Given the description of an element on the screen output the (x, y) to click on. 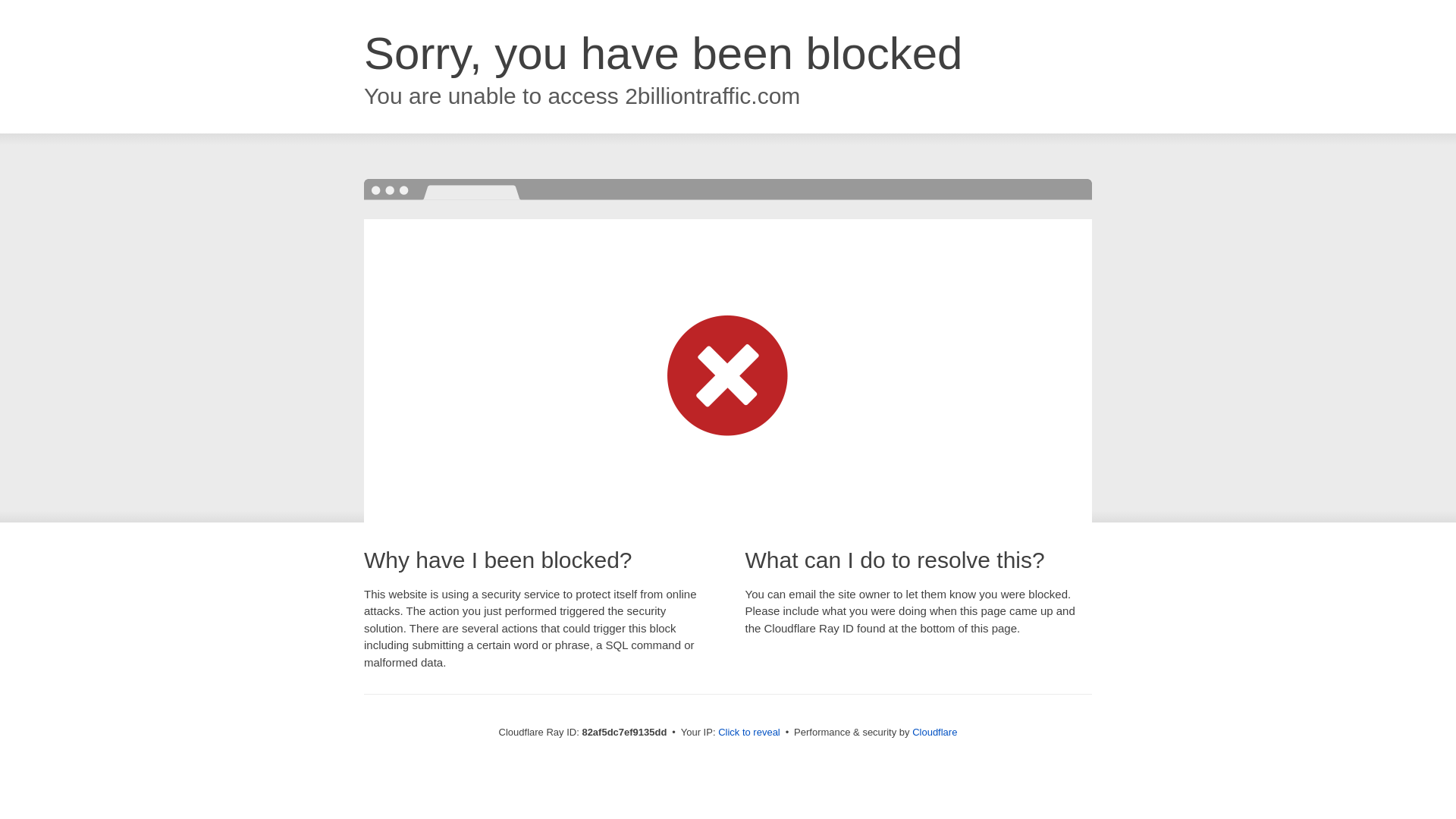
Cloudflare Element type: text (934, 731)
Click to reveal Element type: text (749, 732)
